Given the description of an element on the screen output the (x, y) to click on. 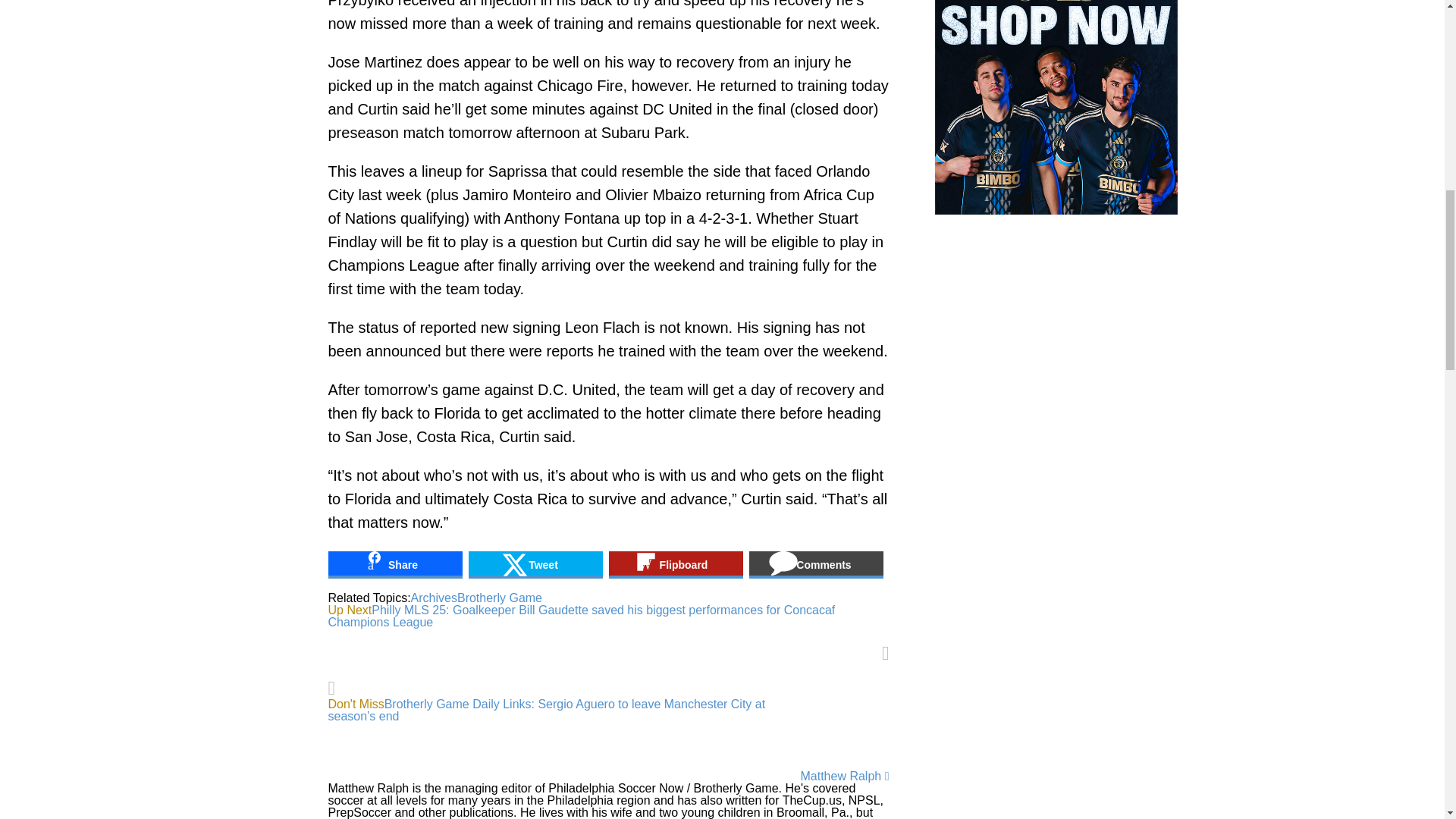
Share on Tweet (535, 564)
Share on Share (394, 564)
Posts by Matthew Ralph (839, 775)
Share on Flipboard (675, 564)
Share on Comments (816, 564)
